Given the description of an element on the screen output the (x, y) to click on. 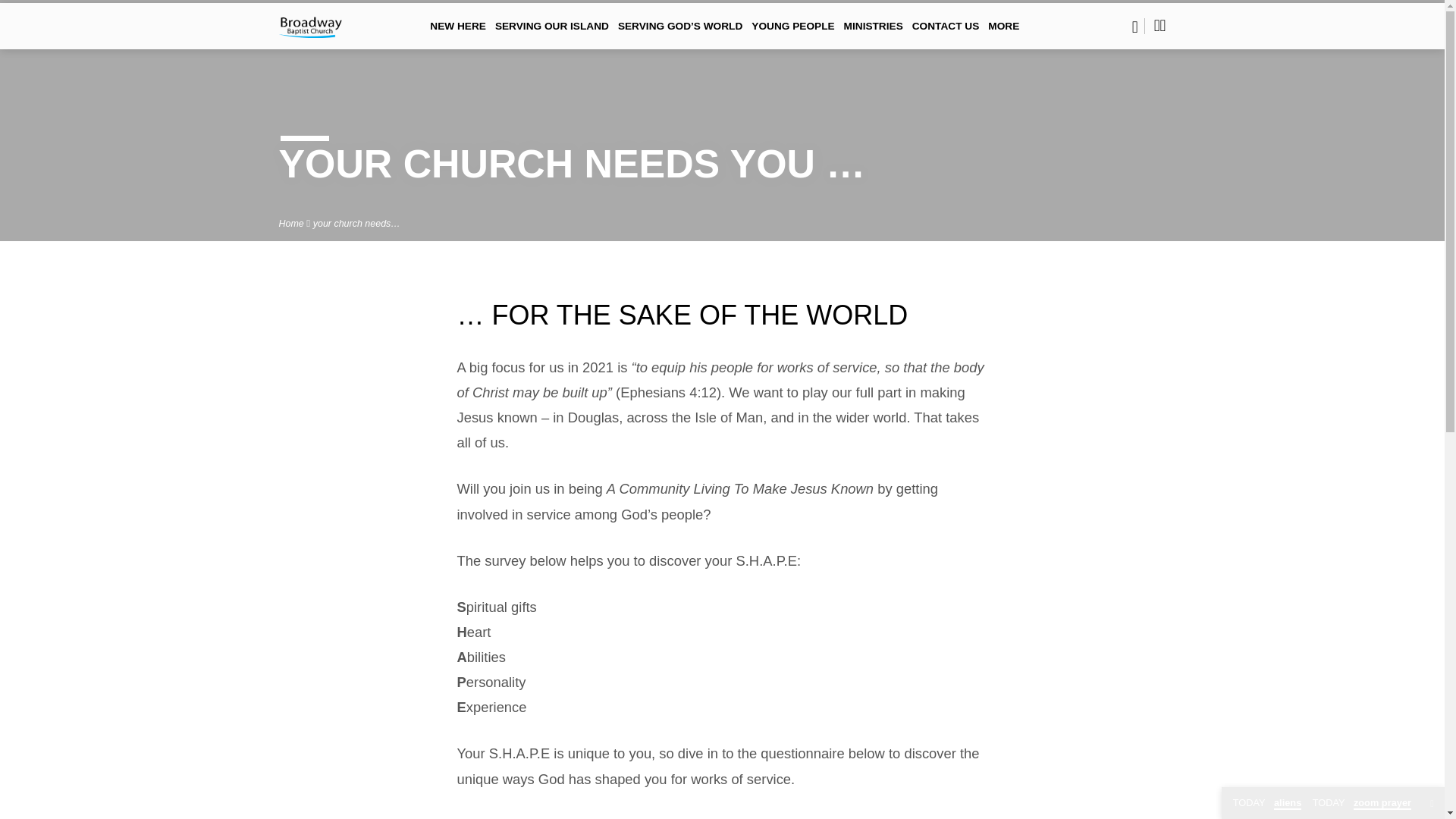
YOUNG PEOPLE (792, 35)
SERVING OUR ISLAND (551, 35)
NEW HERE (457, 35)
MINISTRIES (873, 35)
